Given the description of an element on the screen output the (x, y) to click on. 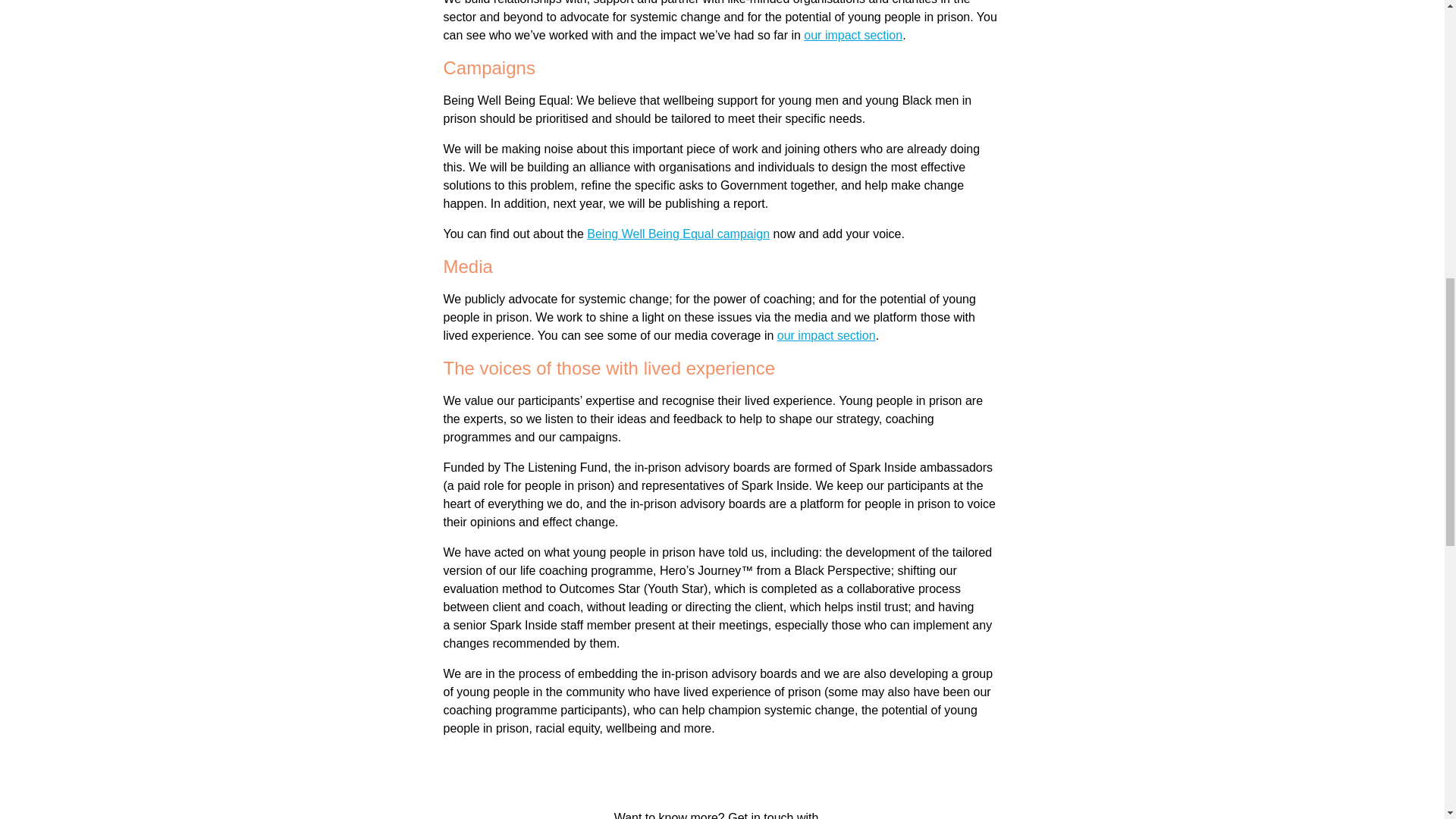
Being Well Being Equal campaign (678, 233)
our impact section (852, 34)
our impact section (826, 335)
